Given the description of an element on the screen output the (x, y) to click on. 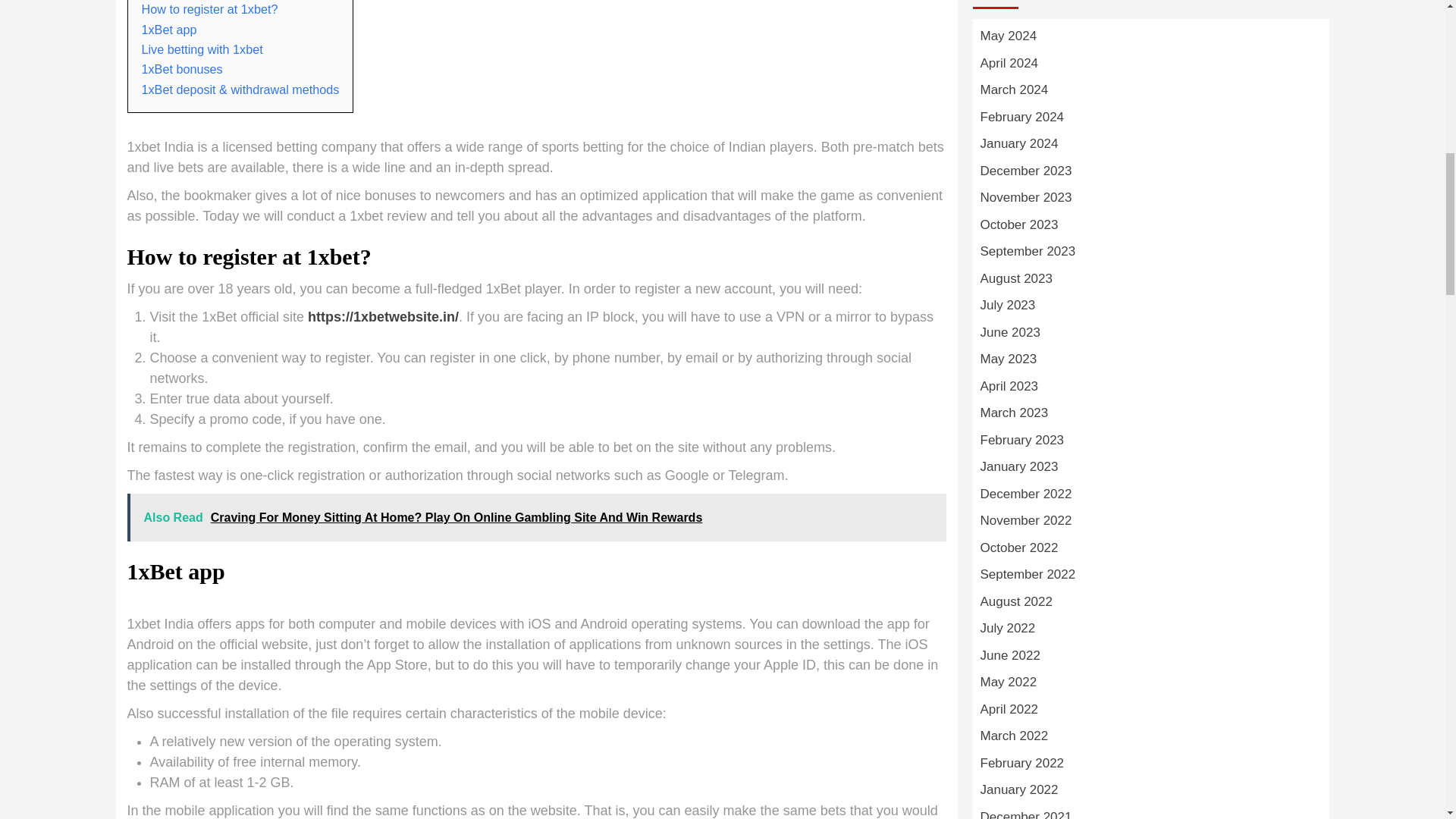
1xBet bonuses (181, 69)
How to register at 1xbet? (209, 8)
Live betting with 1xbet (201, 49)
1xBet app (168, 29)
